Given the description of an element on the screen output the (x, y) to click on. 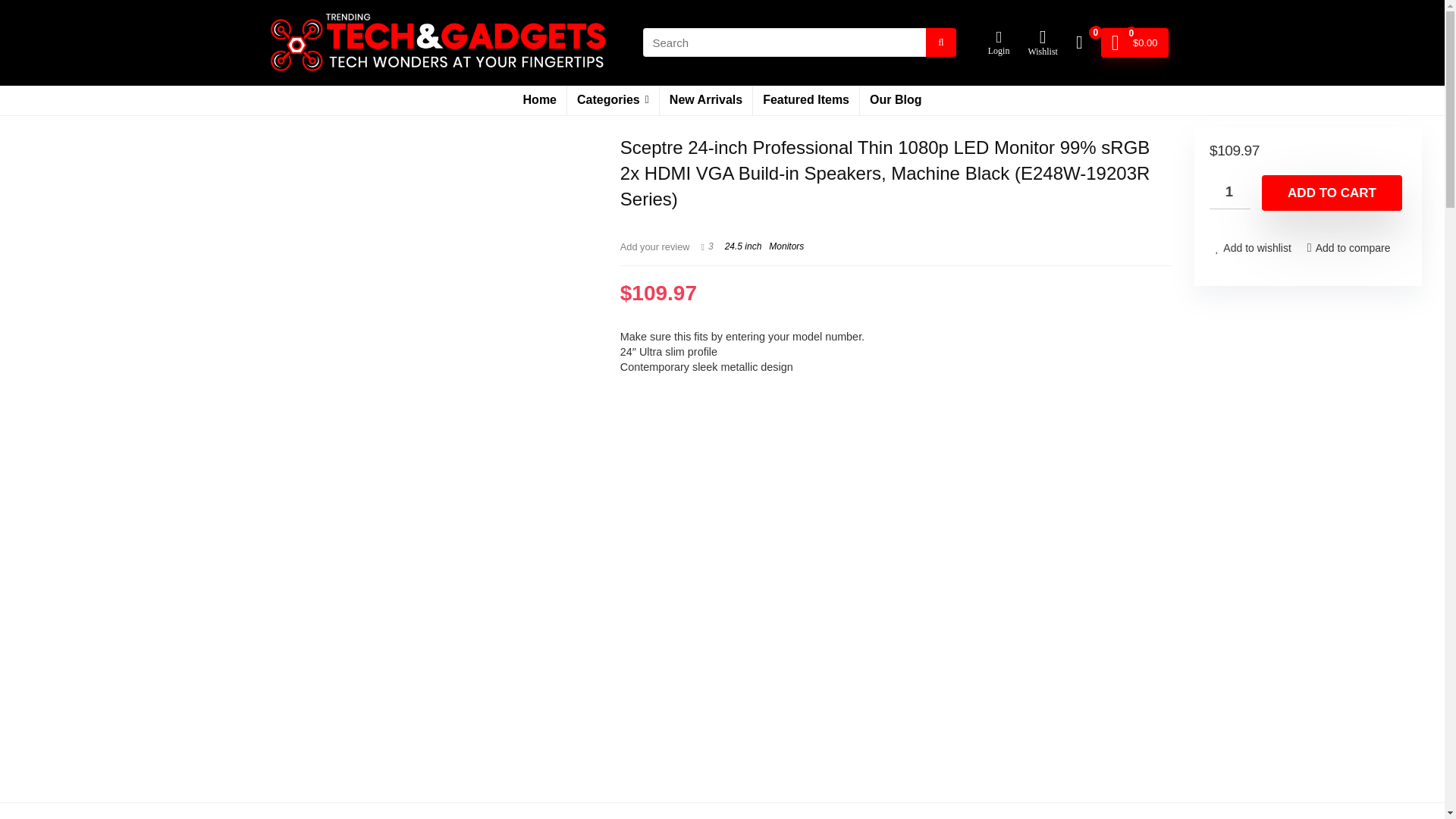
Categories (613, 100)
Home (539, 100)
Add your review (655, 246)
1 (1229, 192)
View all posts in 24.5 inch (743, 245)
View all posts in Monitors (785, 245)
